Given the description of an element on the screen output the (x, y) to click on. 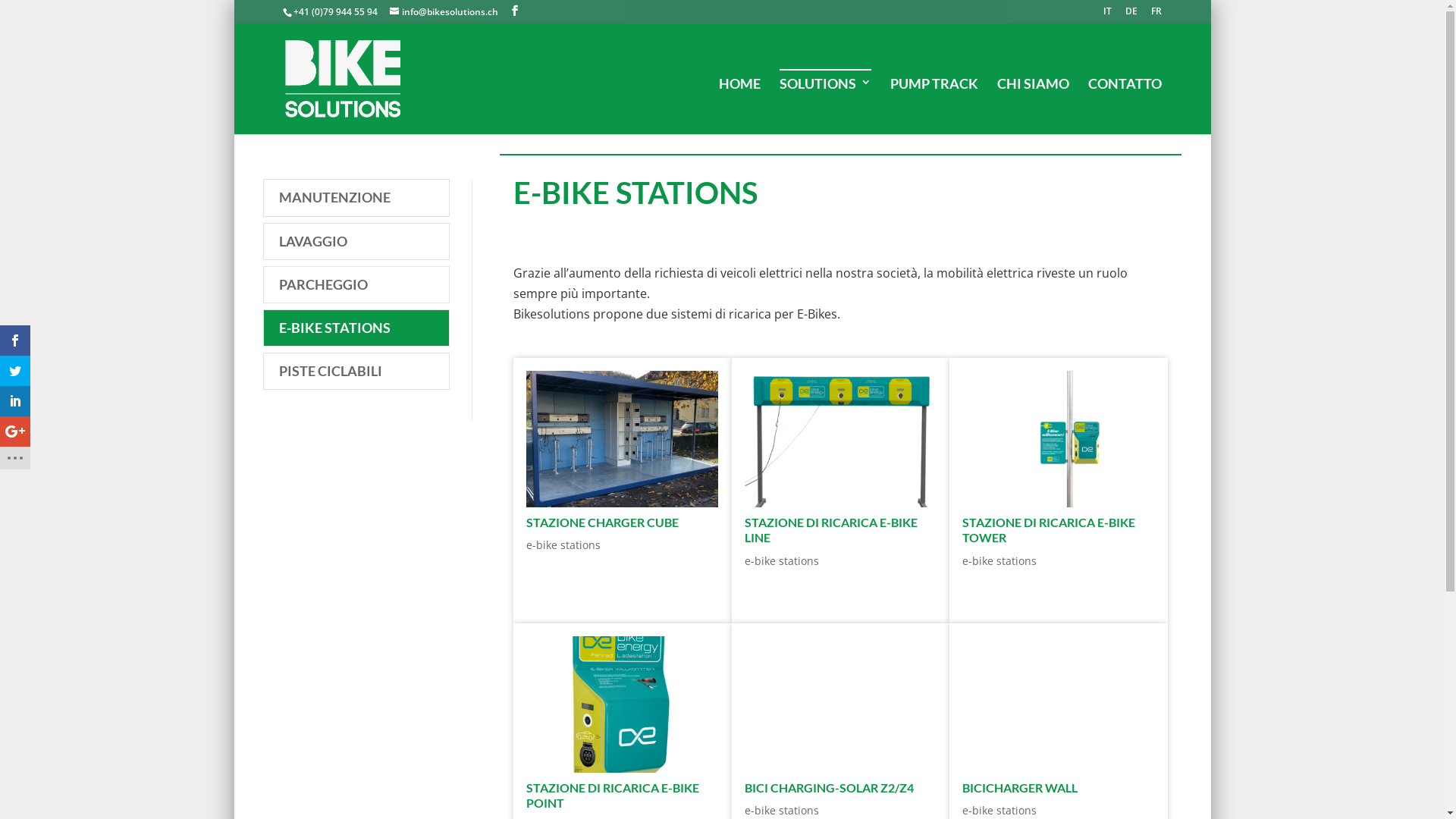
PUMP TRACK Element type: text (934, 102)
BICICHARGER WALL Element type: text (1019, 787)
STAZIONE CHARGER CUBE Element type: text (602, 521)
PARCHEGGIO Element type: text (355, 284)
DE Element type: text (1131, 14)
e-bike stations Element type: text (781, 810)
info@bikesolutions.ch Element type: text (443, 11)
PISTE CICLABILI Element type: text (355, 370)
STAZIONE DI RICARICA E-BIKE TOWER Element type: text (1048, 529)
Stazione di ricarica e-bike LINE Element type: hover (840, 438)
Stazione di ricarica e-bike POINT Element type: hover (622, 704)
E-BIKE STATIONS Element type: text (355, 327)
e-bike stations Element type: text (999, 810)
e-bike stations Element type: text (563, 544)
HOME Element type: text (739, 102)
e-bike stations Element type: text (999, 560)
FR Element type: text (1156, 14)
BICI CHARGING-SOLAR Z2/Z4 Element type: text (828, 787)
e-bike stations Element type: text (781, 560)
LAVAGGIO Element type: text (355, 241)
Stazione CHARGER CUBE Element type: hover (622, 438)
SOLUTIONS Element type: text (825, 101)
CONTATTO Element type: text (1124, 102)
IT Element type: text (1107, 14)
MANUTENZIONE Element type: text (355, 197)
STAZIONE DI RICARICA E-BIKE POINT Element type: text (612, 795)
BICI charging-solar Z2/Z4 Element type: hover (840, 704)
Stazione di ricarica e-bike TOWER Element type: hover (1058, 438)
CHI SIAMO Element type: text (1033, 102)
BICICHARGER WALL Element type: hover (1058, 704)
STAZIONE DI RICARICA E-BIKE LINE Element type: text (830, 529)
